Given the description of an element on the screen output the (x, y) to click on. 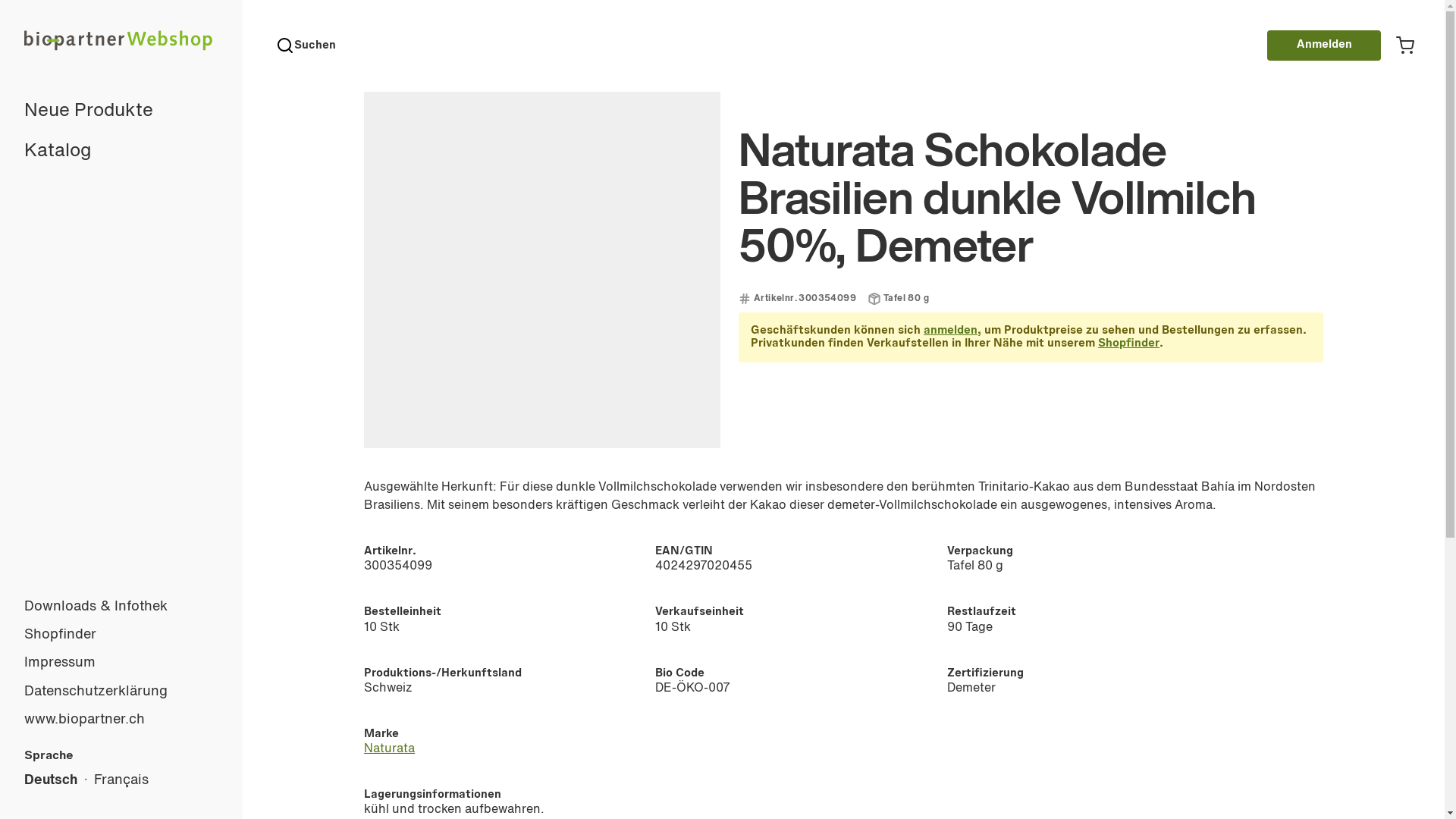
anmelden Element type: text (950, 330)
Suchen Element type: text (305, 45)
Naturata Element type: text (389, 749)
Downloads & Infothek Element type: text (121, 607)
Neue Produkte Element type: text (121, 111)
www.biopartner.ch Element type: text (121, 720)
Katalog Element type: text (121, 151)
Shopfinder Element type: text (121, 635)
Impressum Element type: text (121, 663)
Anmelden Element type: text (1323, 45)
Deutsch Element type: text (50, 780)
Shopfinder Element type: text (1128, 343)
